Given the description of an element on the screen output the (x, y) to click on. 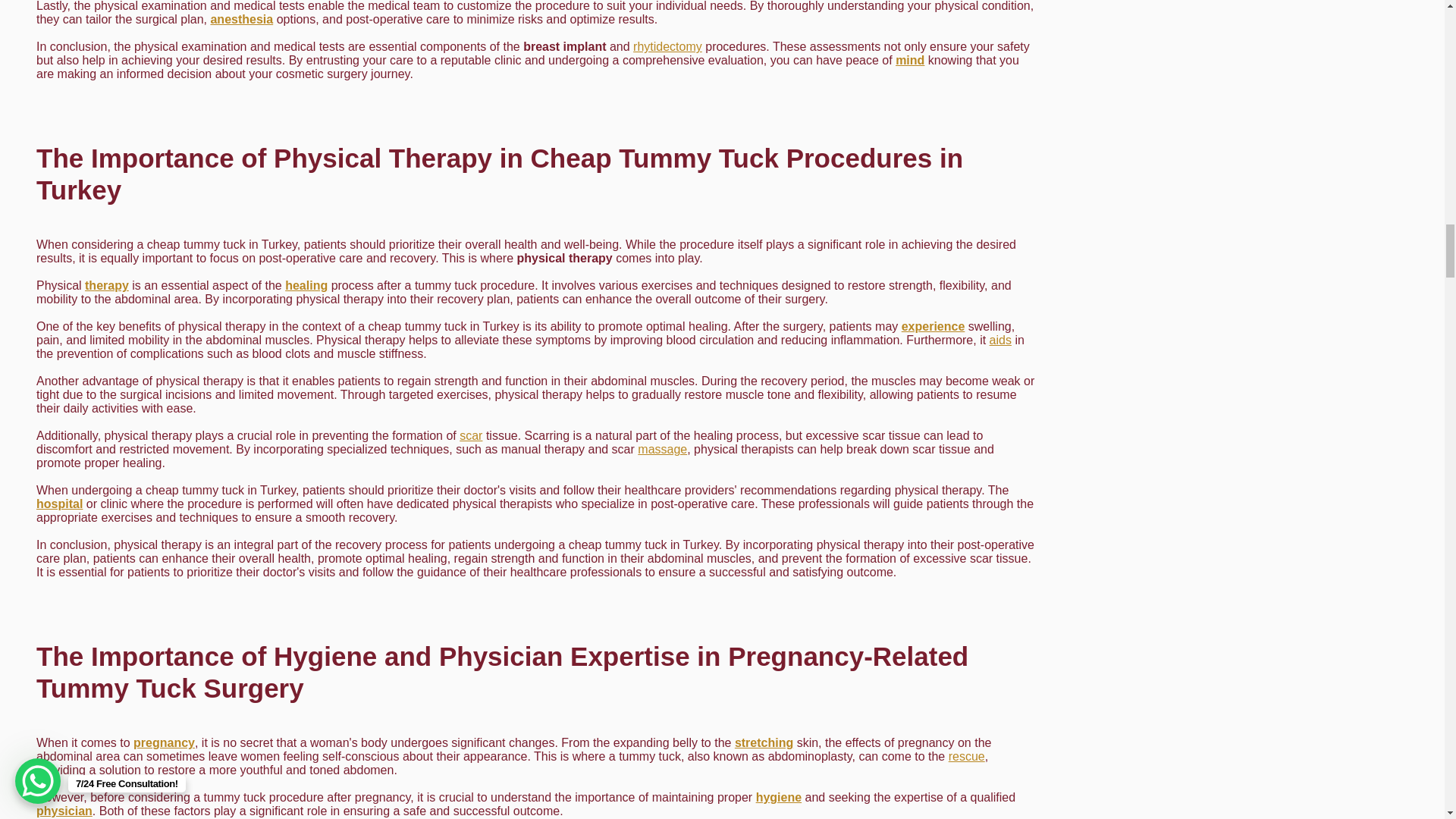
rhytidectomy (667, 46)
